Given the description of an element on the screen output the (x, y) to click on. 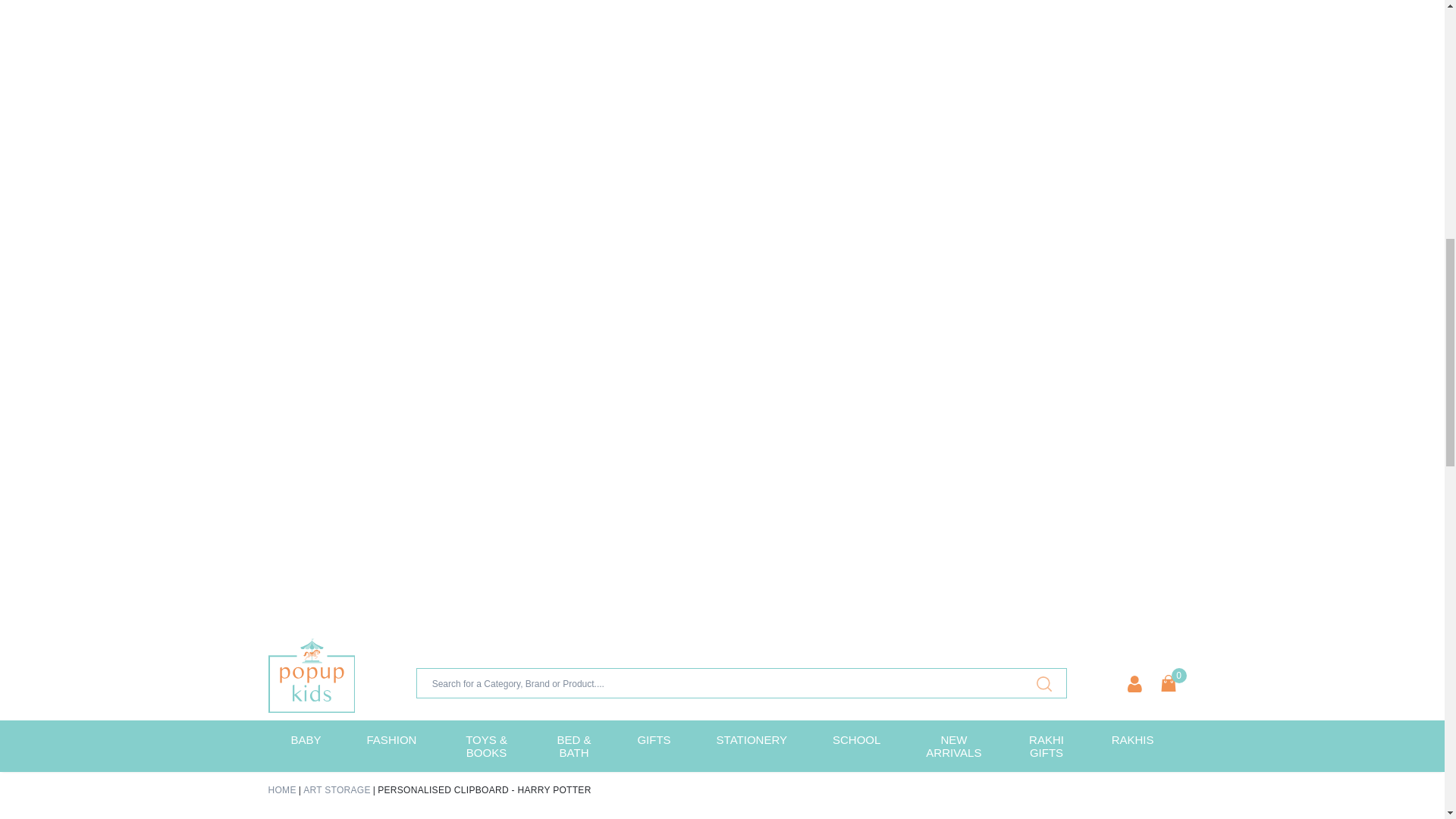
Cart Icon (1168, 682)
0 (1168, 682)
Logo (311, 675)
